Given the description of an element on the screen output the (x, y) to click on. 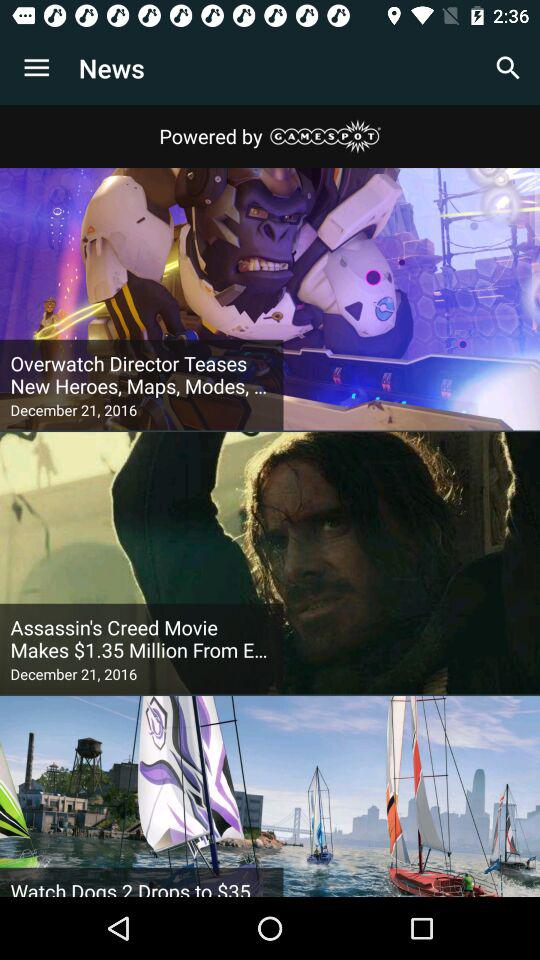
press watch dogs 2 item (141, 887)
